Given the description of an element on the screen output the (x, y) to click on. 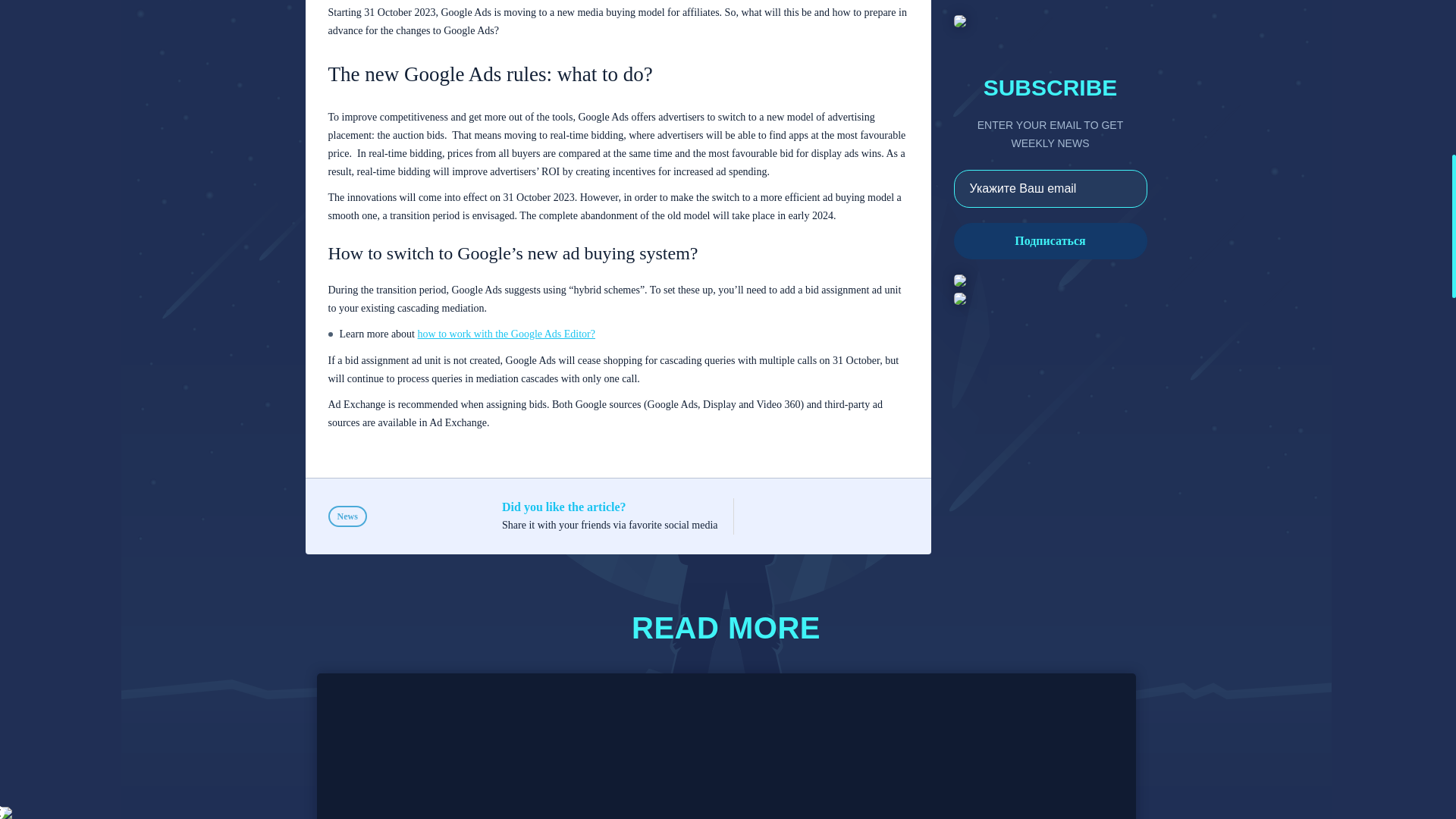
how to work with the Google Ads Editor? (506, 334)
News (346, 516)
